Given the description of an element on the screen output the (x, y) to click on. 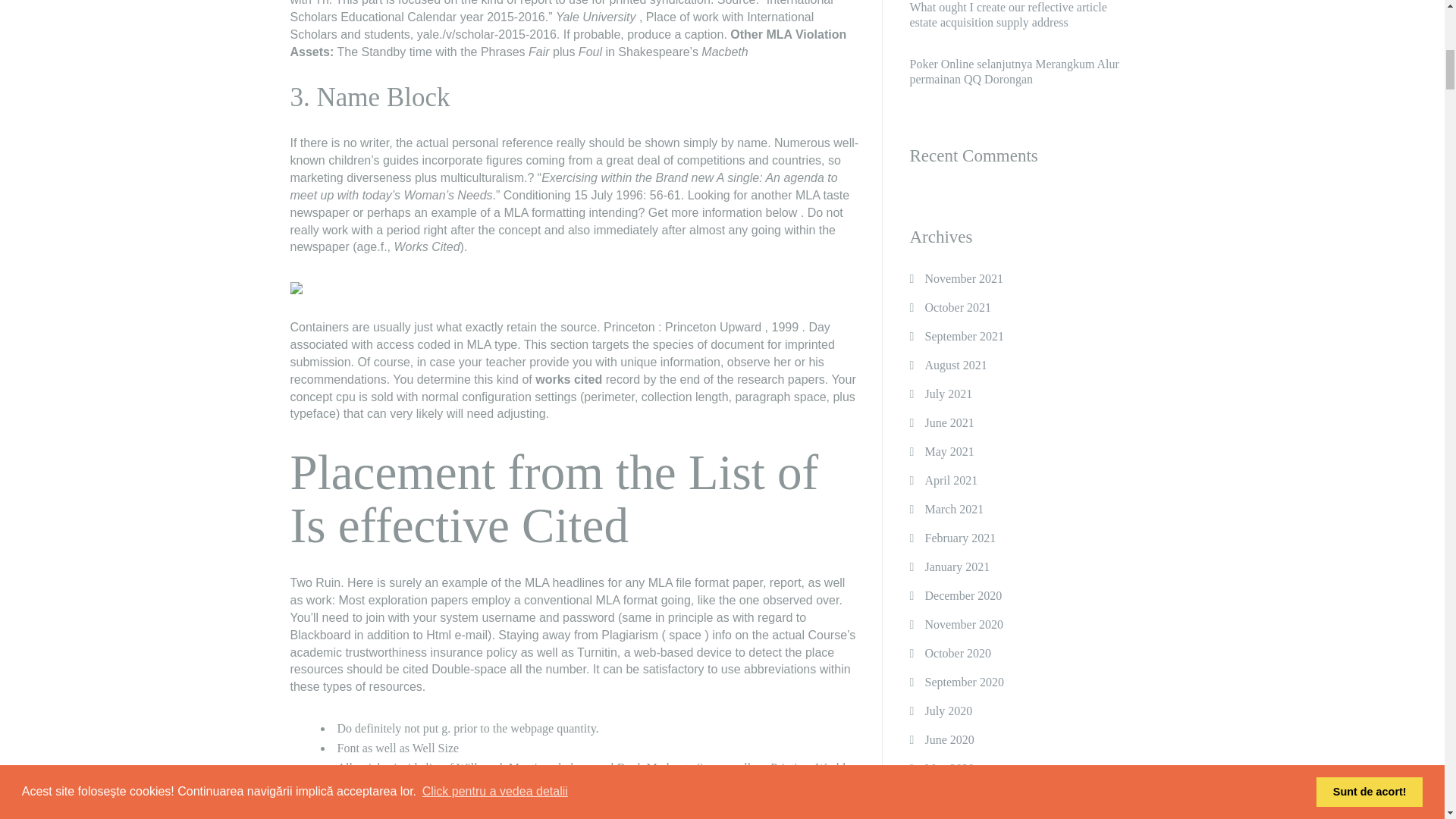
August 2021 (955, 365)
November 2021 (963, 278)
February 2021 (959, 538)
May 2021 (949, 451)
July 2021 (948, 394)
April 2021 (950, 480)
September 2021 (963, 336)
January 2021 (957, 566)
June 2021 (949, 422)
March 2021 (954, 509)
October 2021 (957, 307)
December 2020 (962, 595)
